Given the description of an element on the screen output the (x, y) to click on. 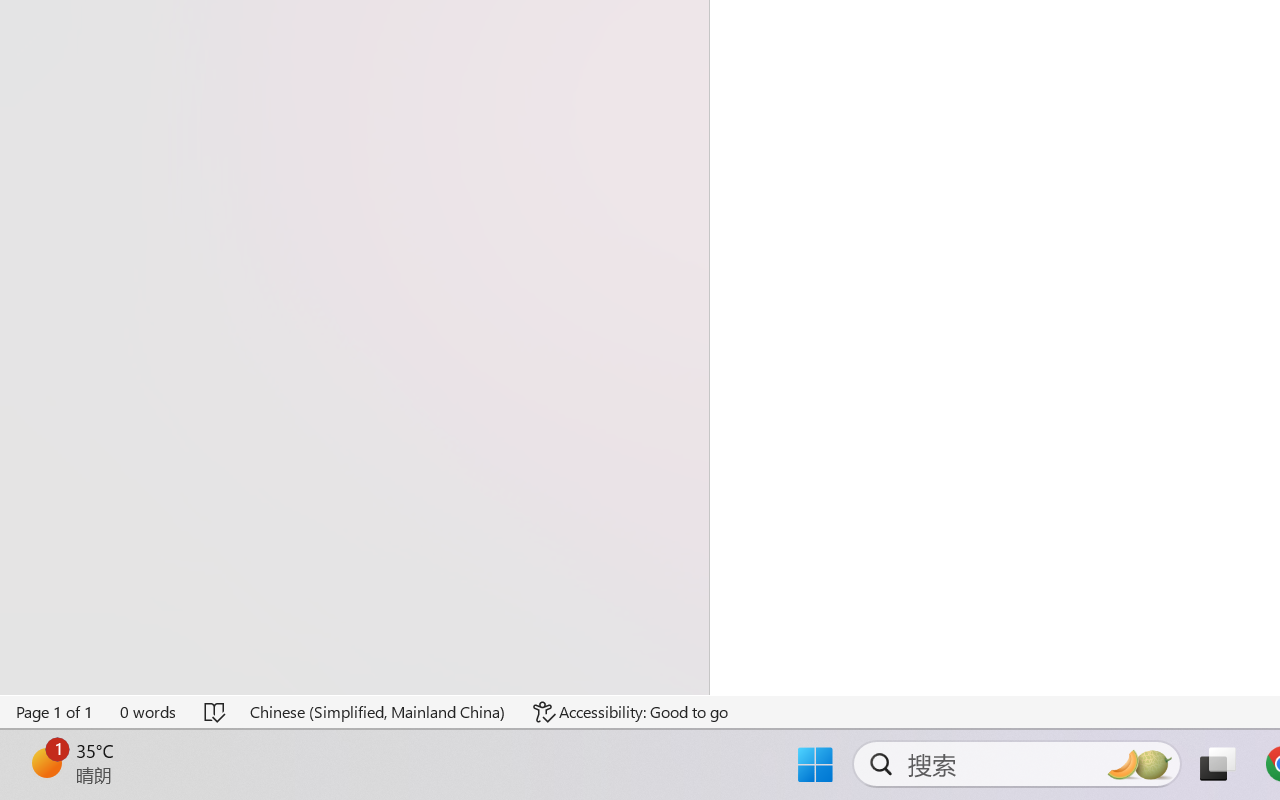
Language Chinese (Simplified, Mainland China) (378, 712)
